Given the description of an element on the screen output the (x, y) to click on. 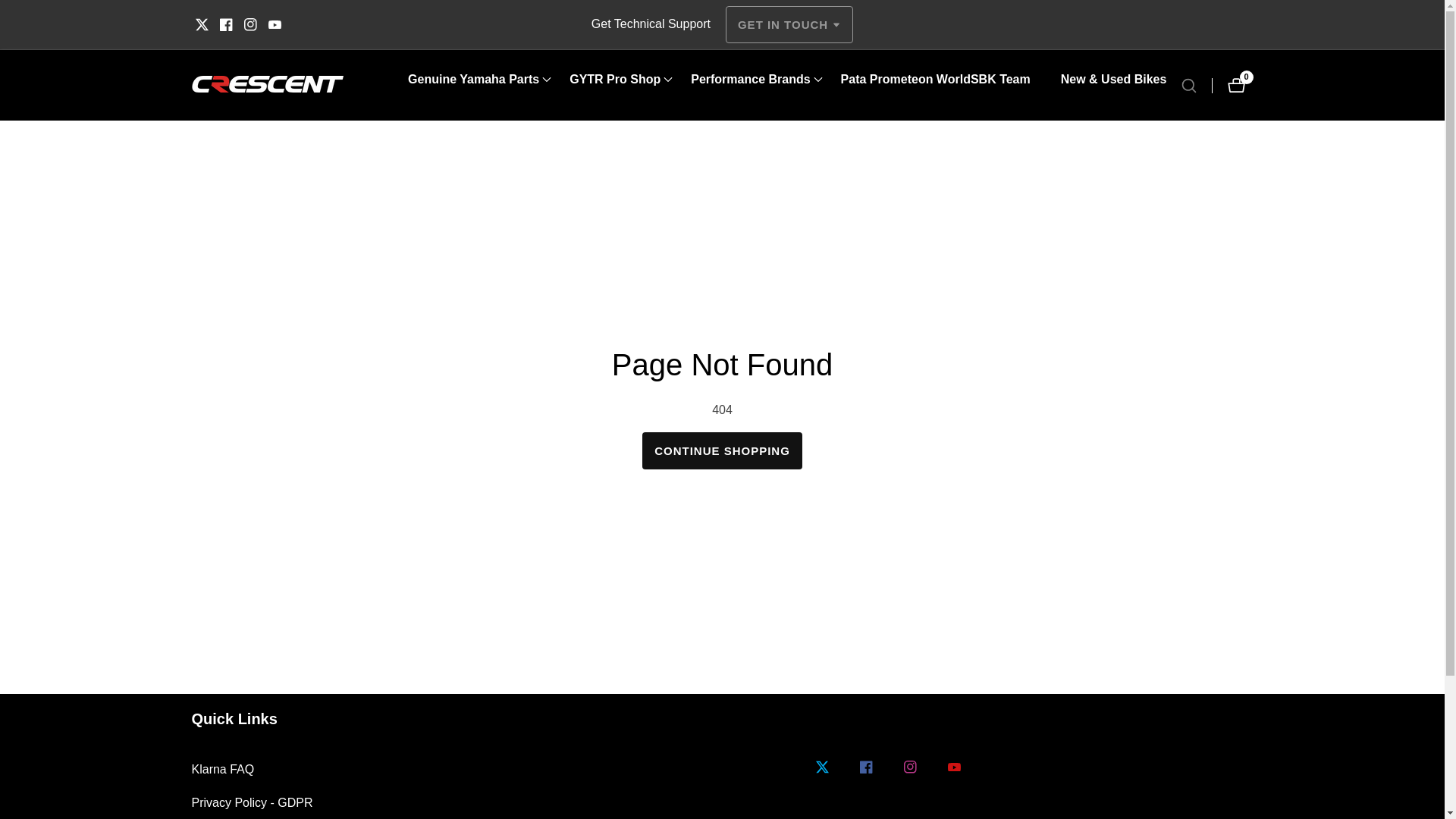
Pata Prometeon WorldSBK Team (935, 78)
Instagram (250, 24)
YouTube (273, 24)
Facebook (225, 24)
GET IN TOUCH (789, 24)
Twitter (200, 24)
SKIP TO CONTENT (11, 7)
